Given the description of an element on the screen output the (x, y) to click on. 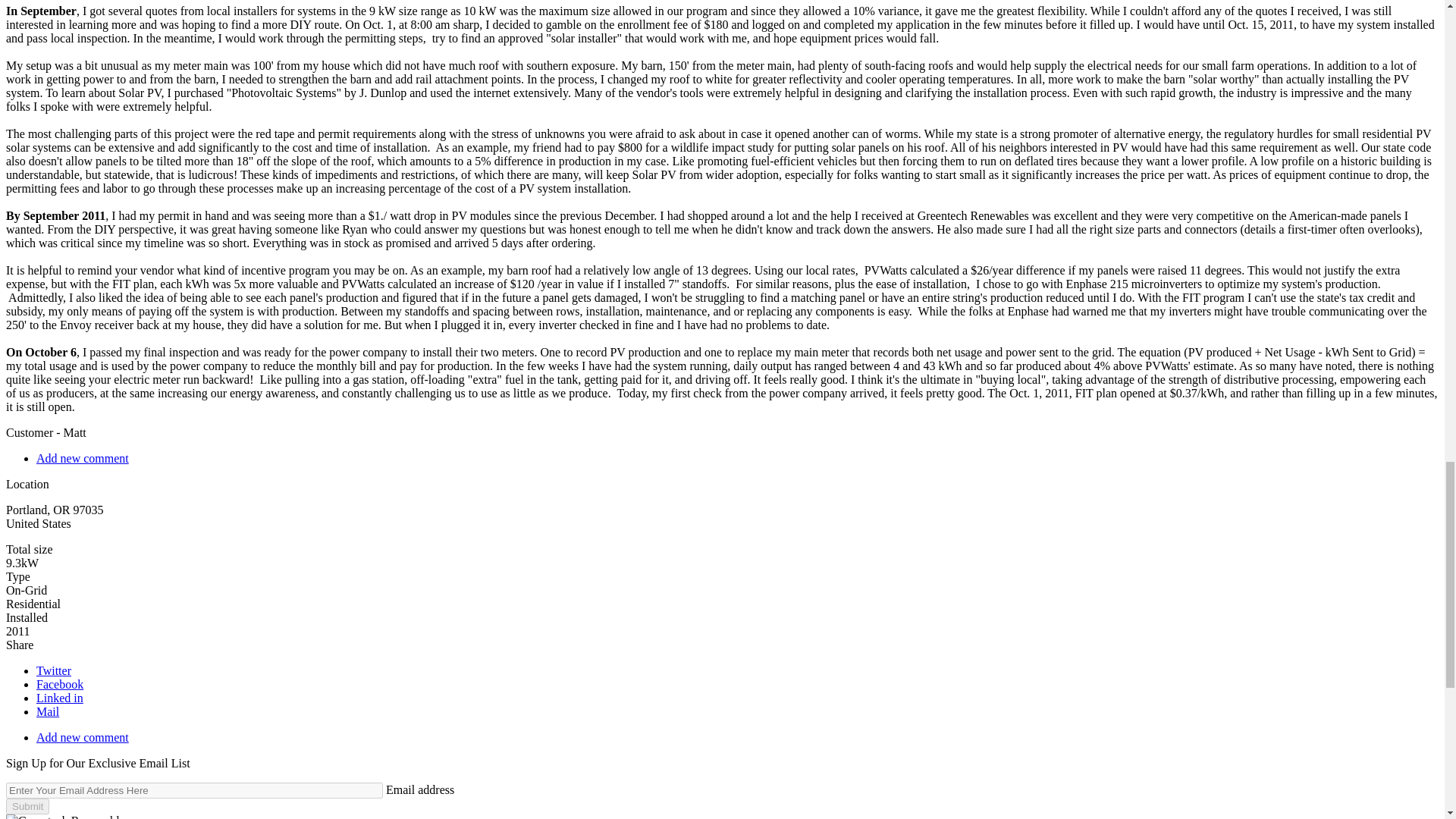
Twitter (53, 670)
Facebook (59, 684)
Share your thoughts and opinions. (82, 458)
